Given the description of an element on the screen output the (x, y) to click on. 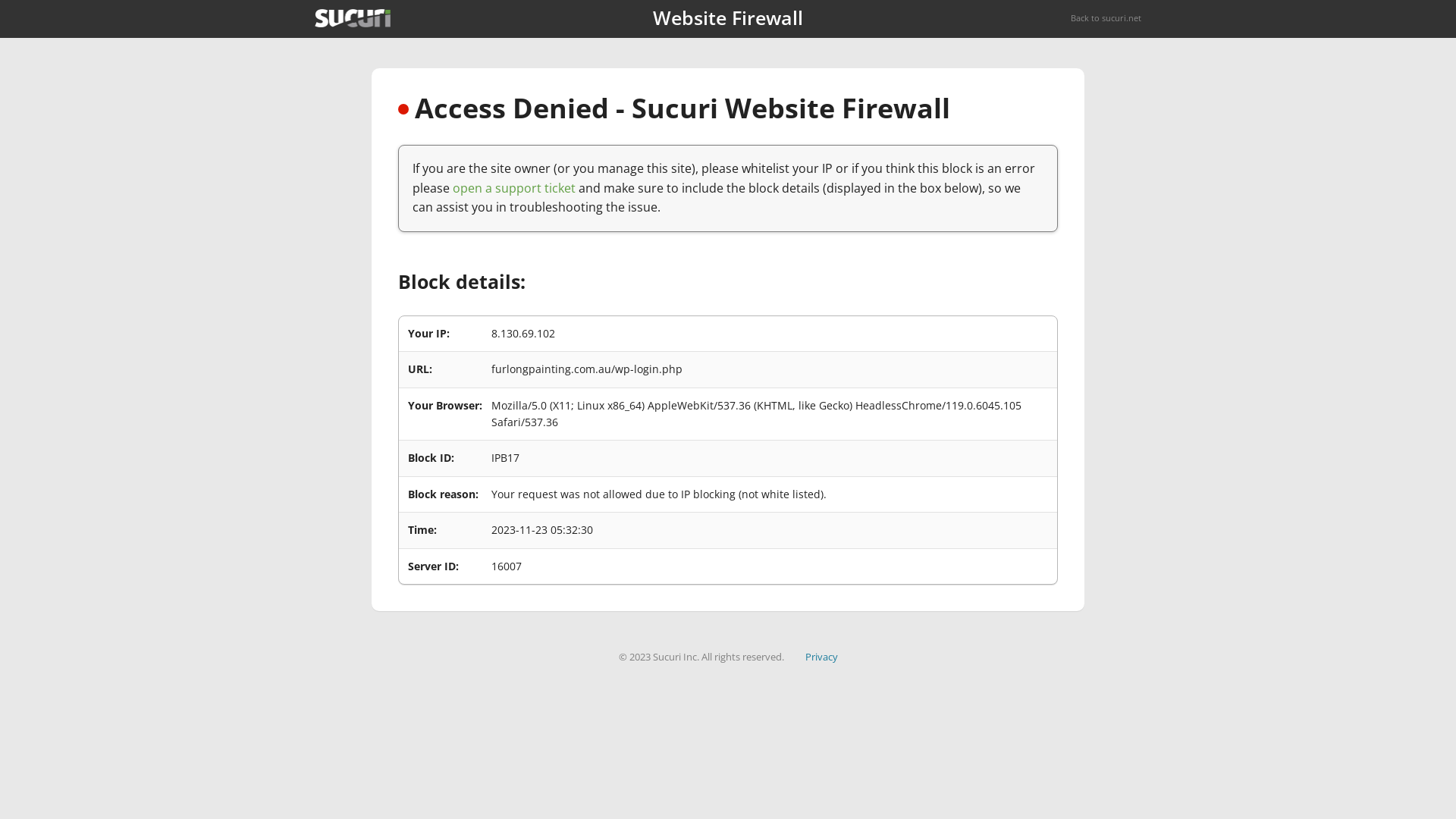
Back to sucuri.net Element type: text (1105, 18)
Privacy Element type: text (821, 656)
open a support ticket Element type: text (513, 187)
